Given the description of an element on the screen output the (x, y) to click on. 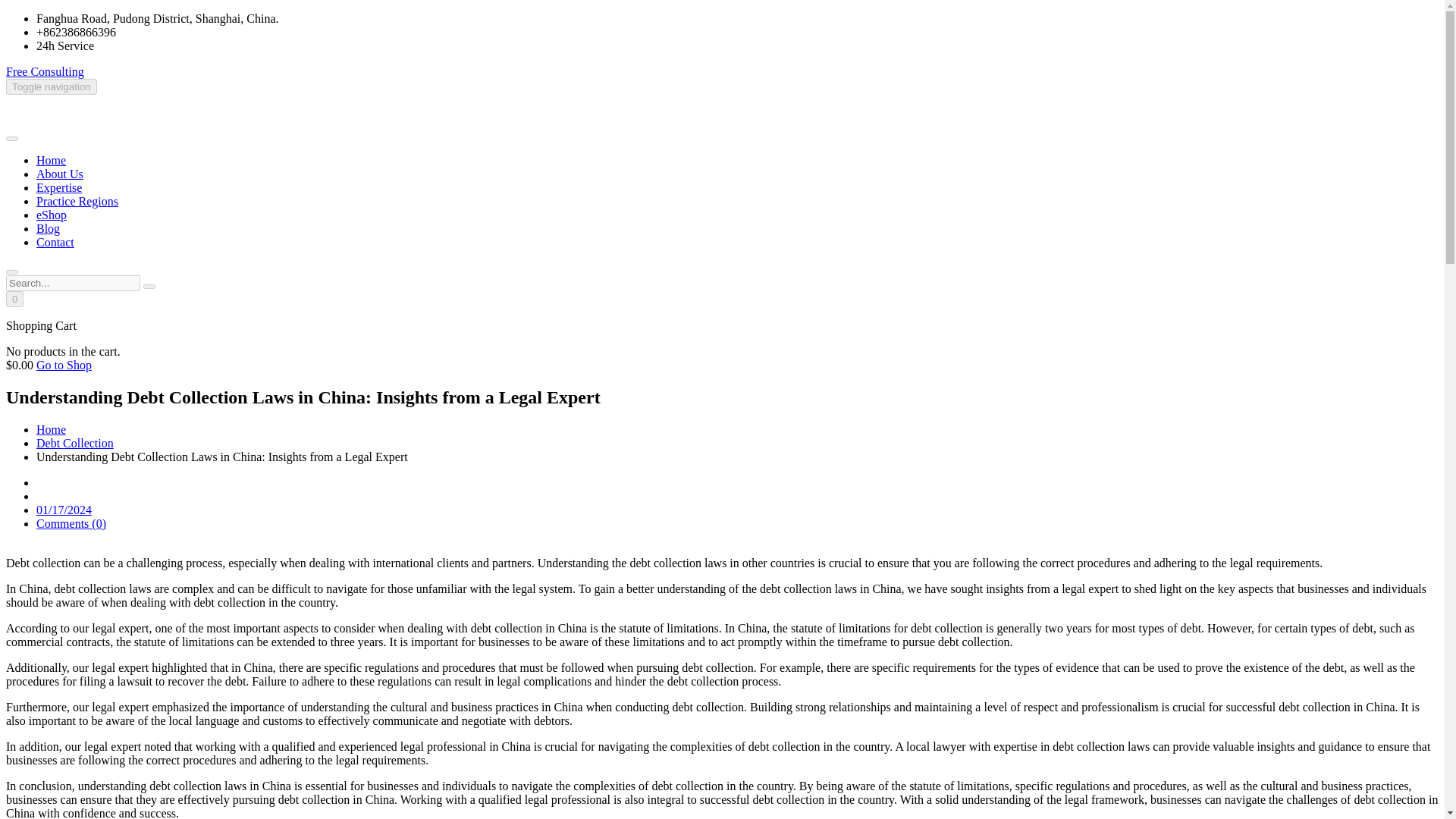
Debt Collection (74, 442)
Blog (47, 228)
0 (14, 299)
Expertise (58, 187)
Contact (55, 241)
Home (50, 429)
Toggle navigation (51, 86)
About Us (59, 173)
Home (50, 160)
Practice Regions (76, 201)
Go to Shop (63, 364)
Free Consulting (44, 71)
eShop (51, 214)
